Given the description of an element on the screen output the (x, y) to click on. 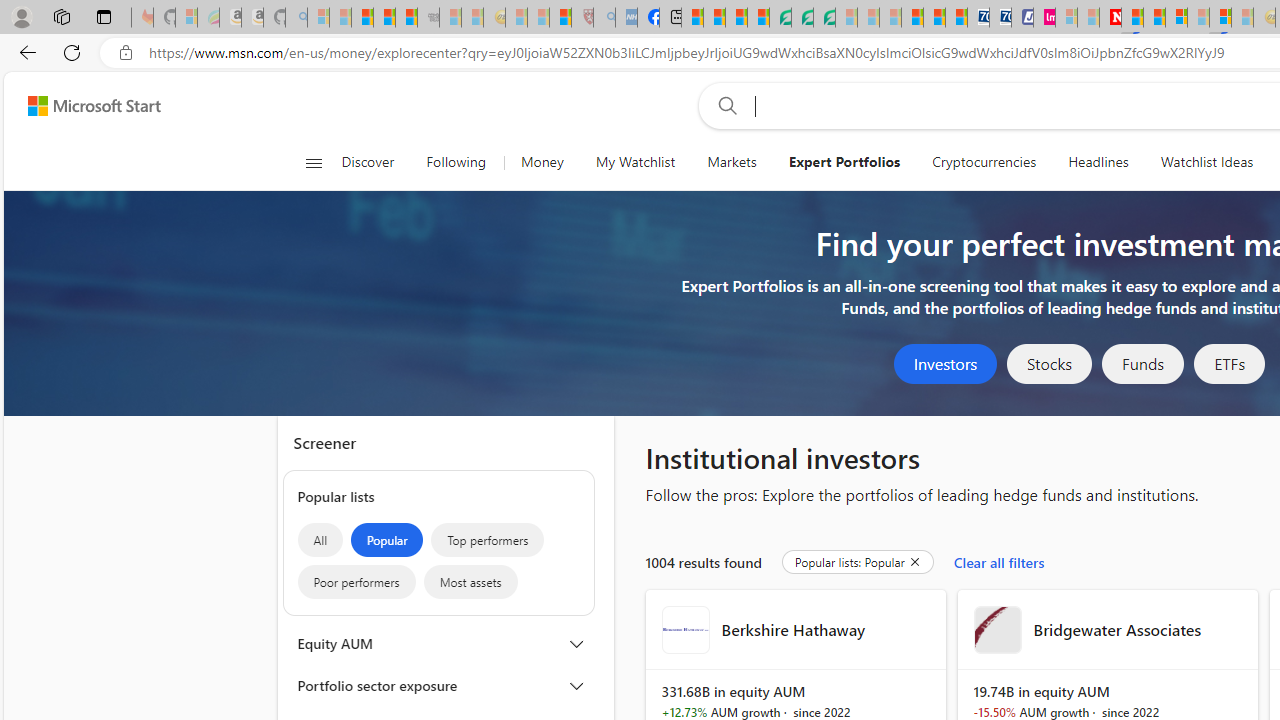
Markets (731, 162)
Expert Portfolios (844, 162)
Popular (386, 539)
